Given the description of an element on the screen output the (x, y) to click on. 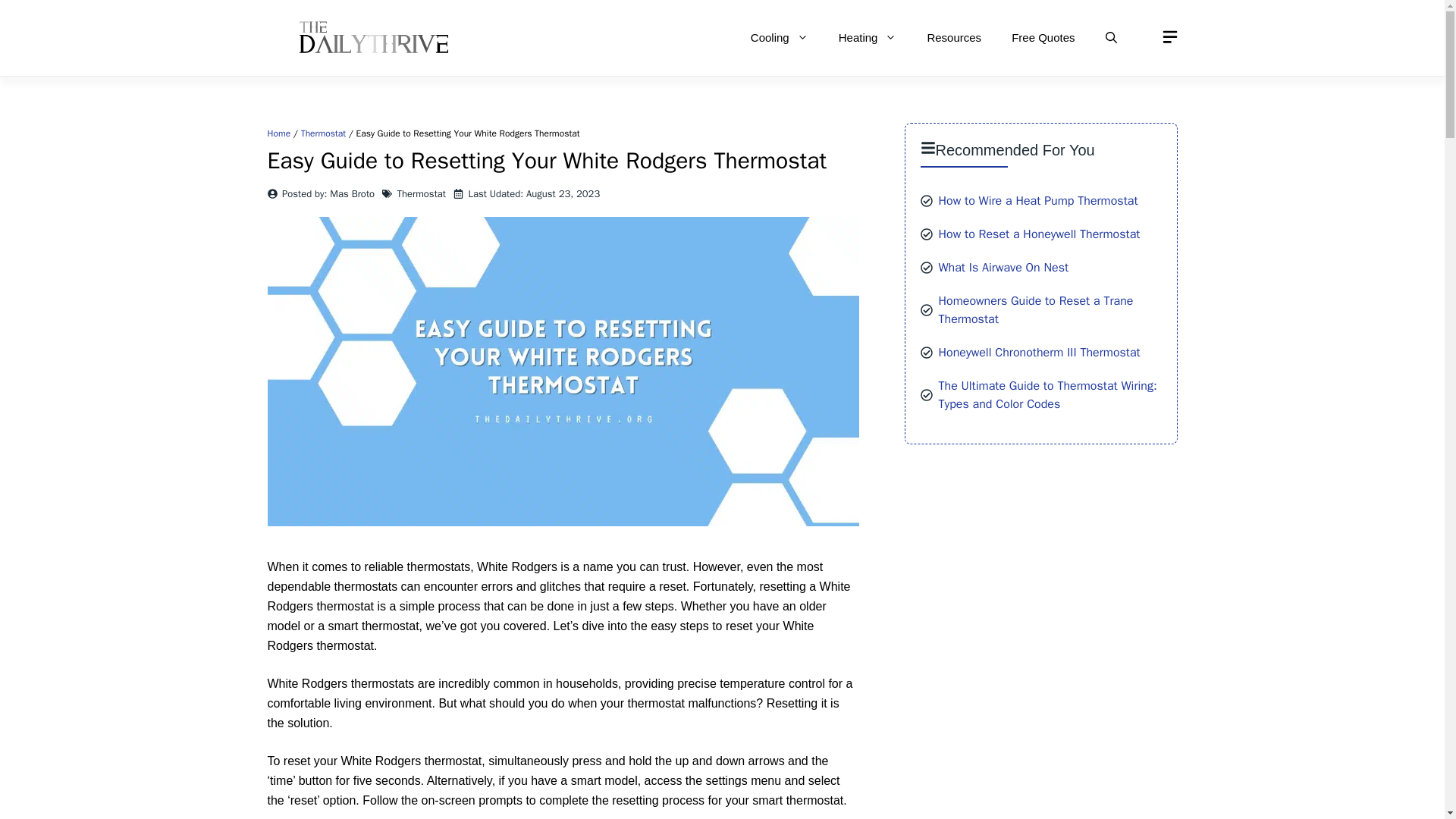
Thermostat (421, 193)
Resources (953, 37)
Home (277, 133)
Cooling (779, 37)
Free Quotes (1042, 37)
Thermostat (323, 133)
Heating (868, 37)
